Given the description of an element on the screen output the (x, y) to click on. 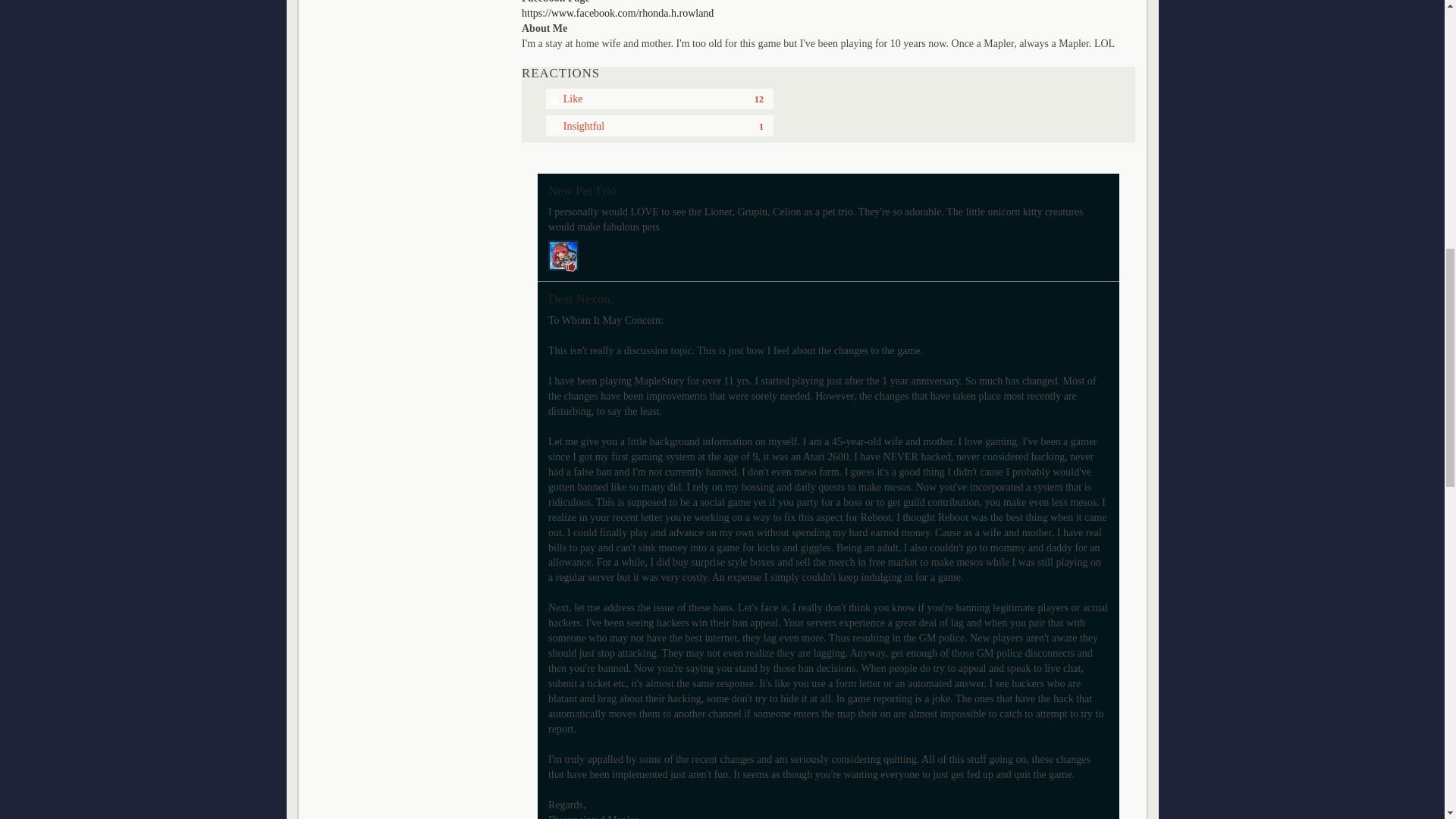
Like (659, 99)
Insightful (659, 126)
12 (758, 99)
